Given the description of an element on the screen output the (x, y) to click on. 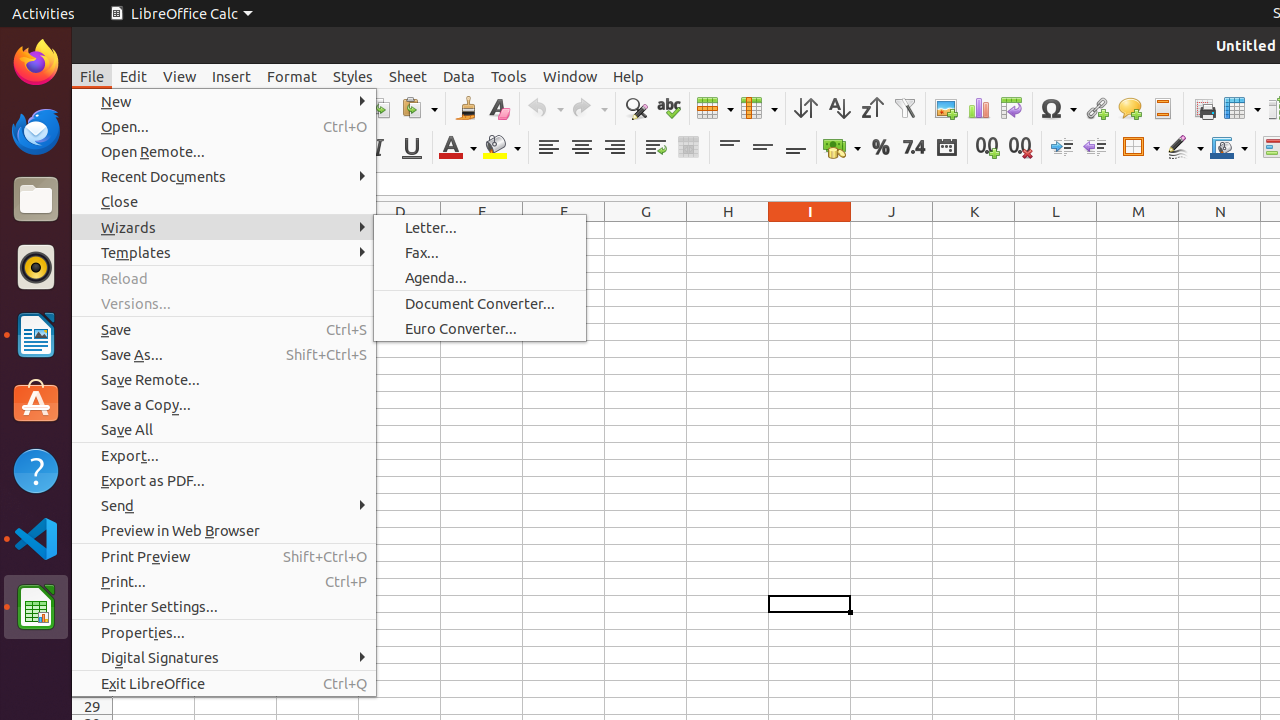
Comment Element type: push-button (1129, 108)
Open Remote... Element type: menu-item (224, 151)
Printer Settings... Element type: menu-item (224, 606)
Column Element type: push-button (759, 108)
Align Left Element type: push-button (548, 147)
